Given the description of an element on the screen output the (x, y) to click on. 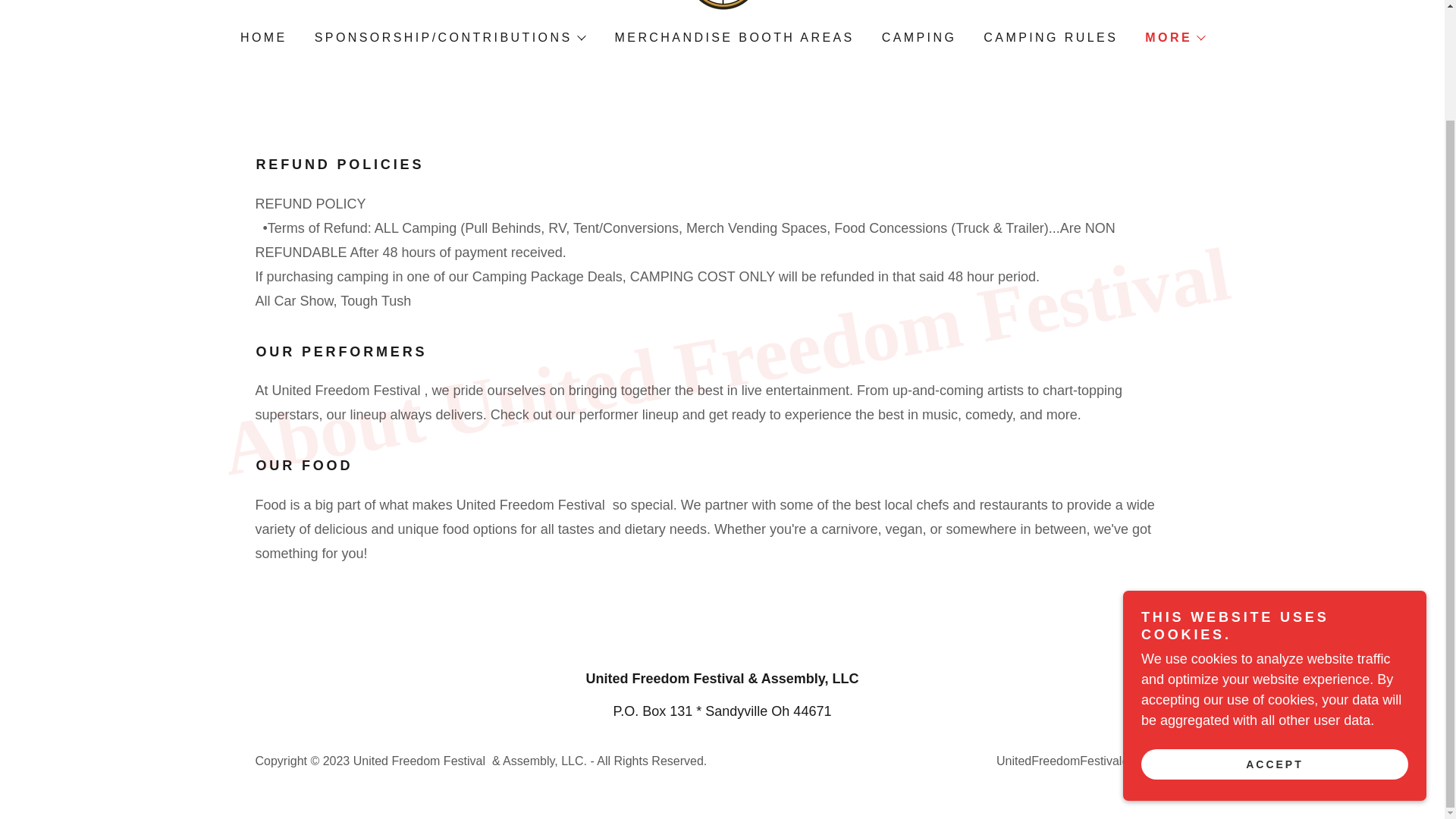
MORE (1174, 37)
CAMPING (917, 37)
MERCHANDISE BOOTH AREAS (733, 37)
HOME (262, 37)
CAMPING RULES (1048, 37)
